Given the description of an element on the screen output the (x, y) to click on. 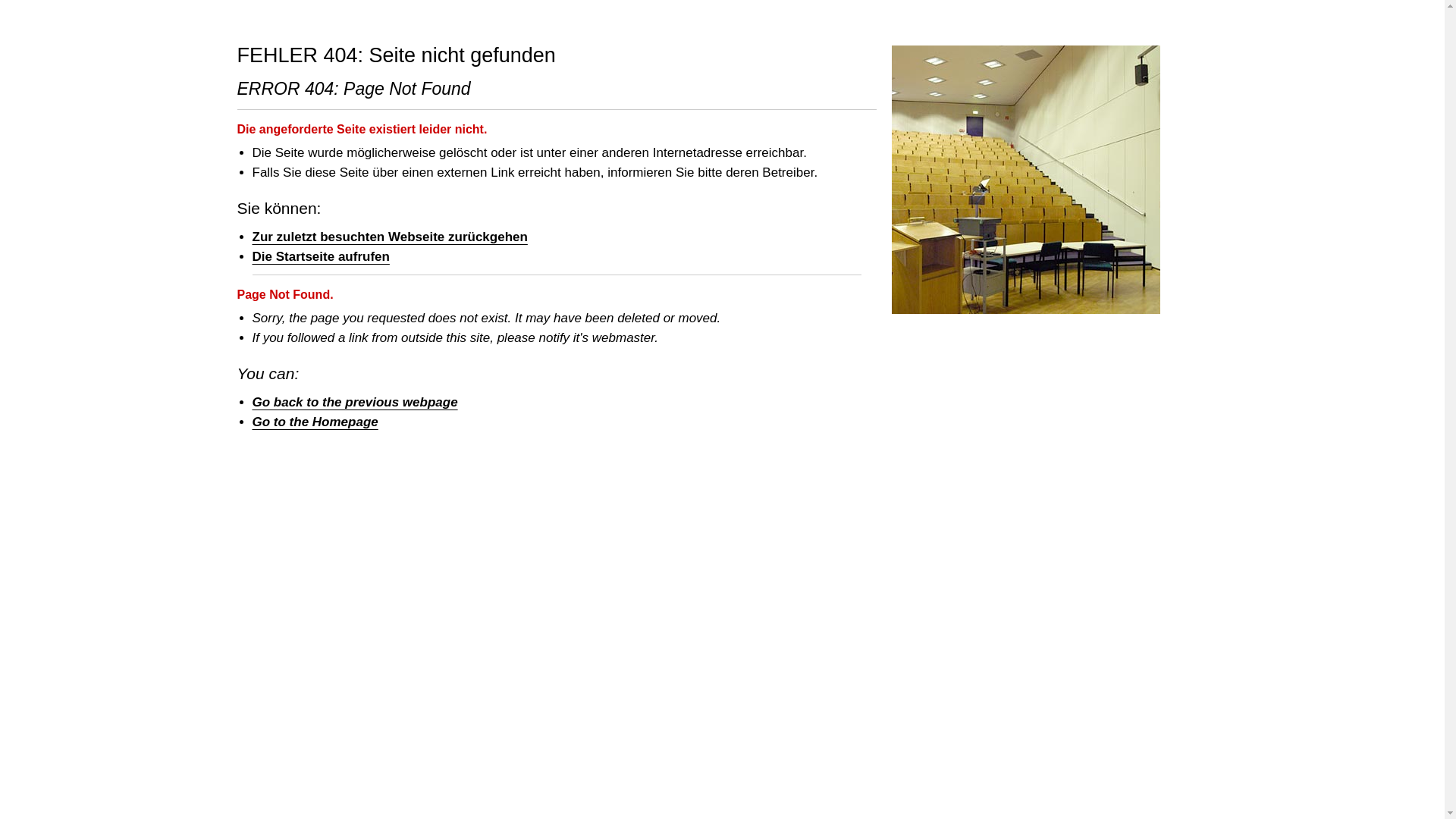
Go to the Homepage (314, 421)
Die Startseite aufrufen (319, 255)
Go back to the previous webpage (354, 401)
